Given the description of an element on the screen output the (x, y) to click on. 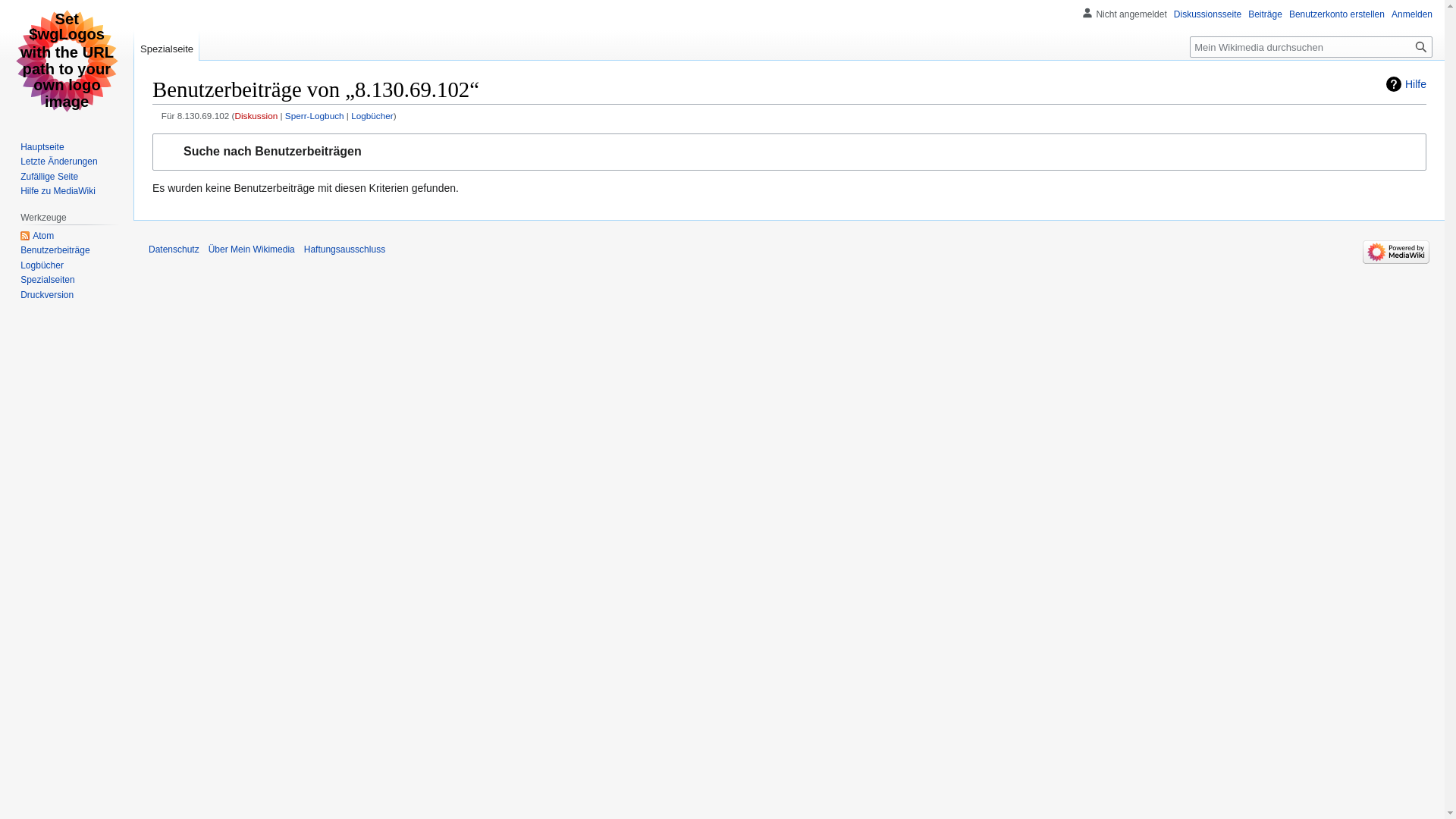
Spezialseiten Element type: text (47, 279)
Suche nach Seiten, die diesen Text enthalten Element type: hover (1420, 46)
Diskussionsseite Element type: text (1207, 14)
Zur Navigation springen Element type: text (151, 132)
Hauptseite Element type: text (41, 146)
Atom Element type: text (36, 235)
Haftungsausschluss Element type: text (344, 249)
Benutzerkonto erstellen Element type: text (1336, 14)
Hilfe Element type: text (1406, 83)
Mein Wikimedia durchsuchen [f] Element type: hover (1310, 46)
Druckversion Element type: text (46, 294)
Hauptseite Element type: hover (66, 60)
Spezialseite Element type: text (166, 45)
Datenschutz Element type: text (173, 249)
Anmelden Element type: text (1411, 14)
Hilfe zu MediaWiki Element type: text (57, 190)
Sperr-Logbuch Element type: text (314, 115)
Diskussion Element type: text (255, 115)
Suchen Element type: text (1420, 46)
